Given the description of an element on the screen output the (x, y) to click on. 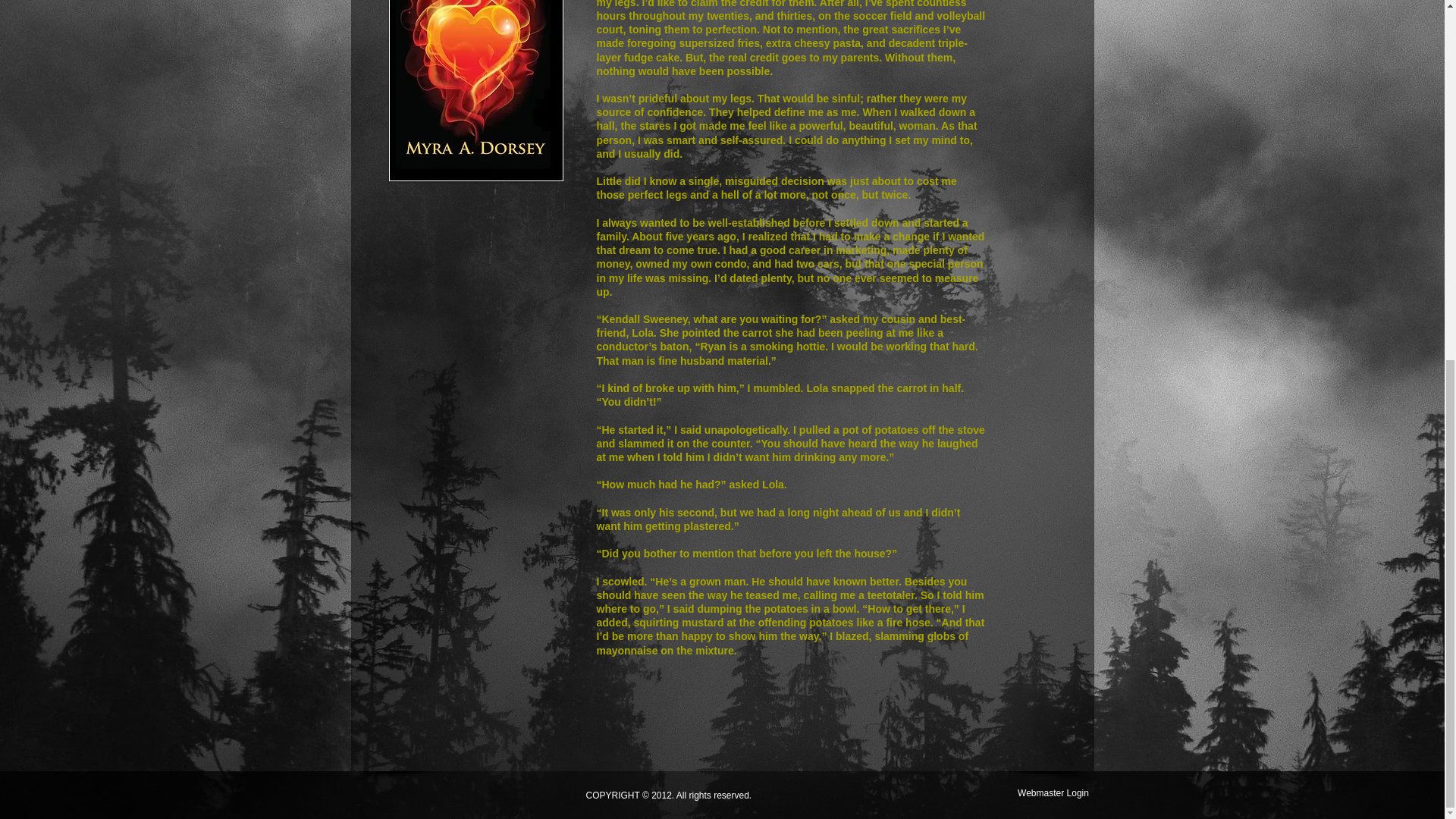
Webmaster Login (1053, 793)
